Given the description of an element on the screen output the (x, y) to click on. 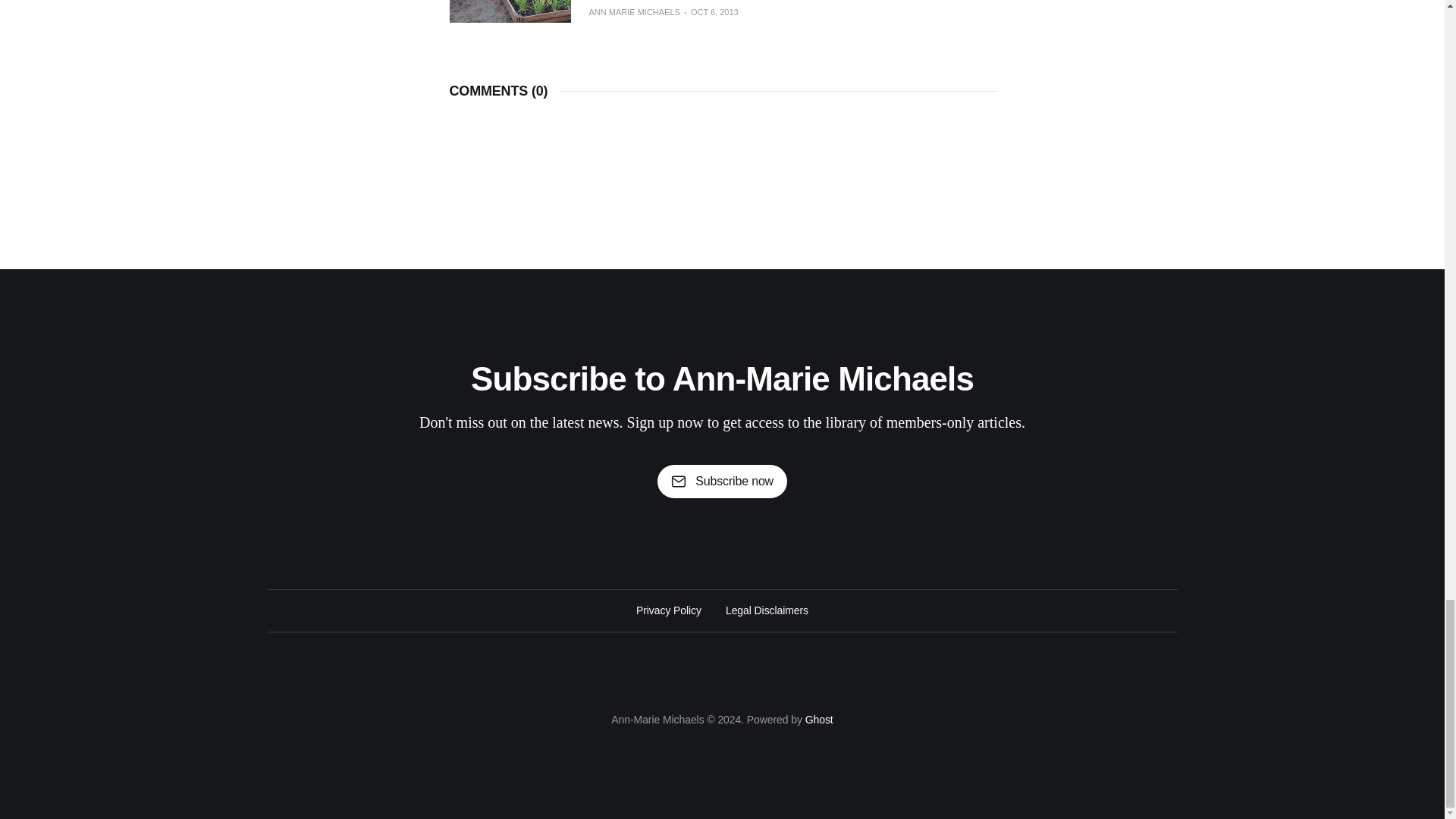
Subscribe now (722, 481)
Ghost (818, 719)
Privacy Policy (668, 610)
Legal Disclaimers (766, 610)
